Given the description of an element on the screen output the (x, y) to click on. 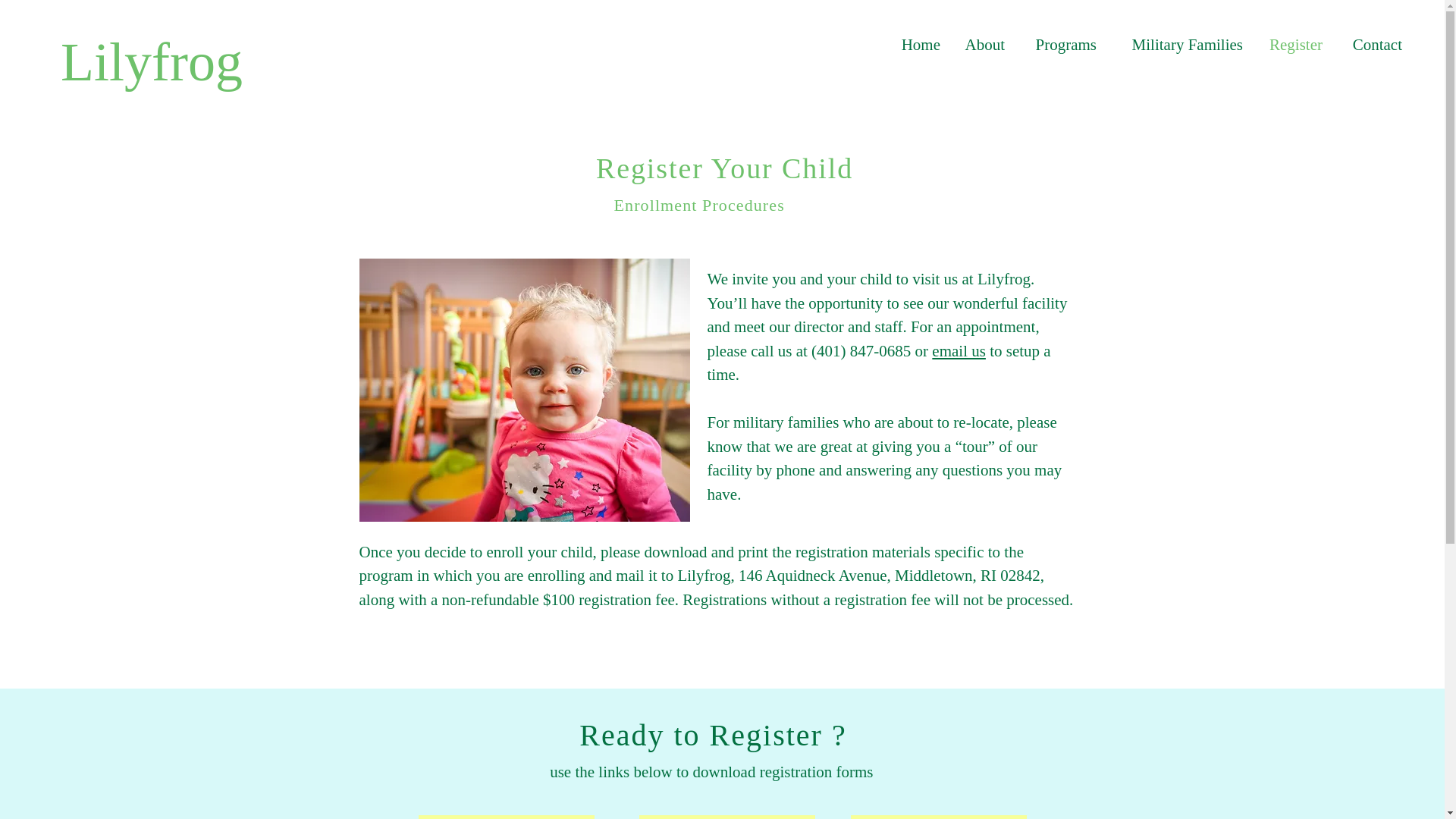
Camps (938, 816)
Register (1290, 44)
Programs (1057, 44)
baby girl smiling at camera.jpg (524, 389)
Military Families (1176, 44)
About (979, 44)
email us (958, 351)
Preschool (726, 816)
Home (916, 44)
Contact (1369, 44)
